Given the description of an element on the screen output the (x, y) to click on. 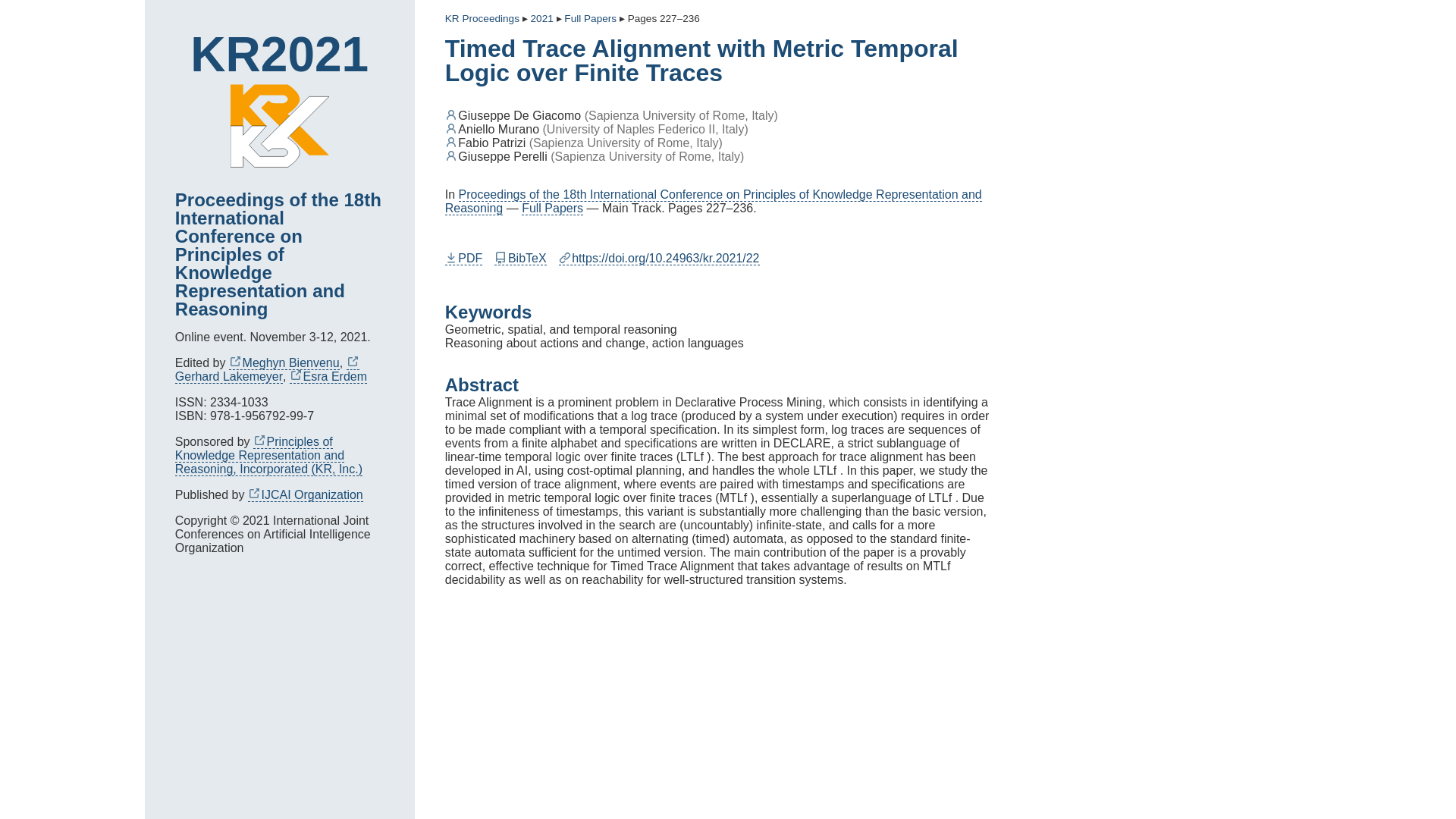
Meghyn Bienvenu (283, 363)
IJCAI Organization (304, 495)
Esra Erdem (327, 377)
Full Papers (589, 19)
Full Papers (552, 208)
BibTeX (520, 258)
2021 (542, 19)
KR Proceedings (482, 19)
PDF (464, 258)
